Given the description of an element on the screen output the (x, y) to click on. 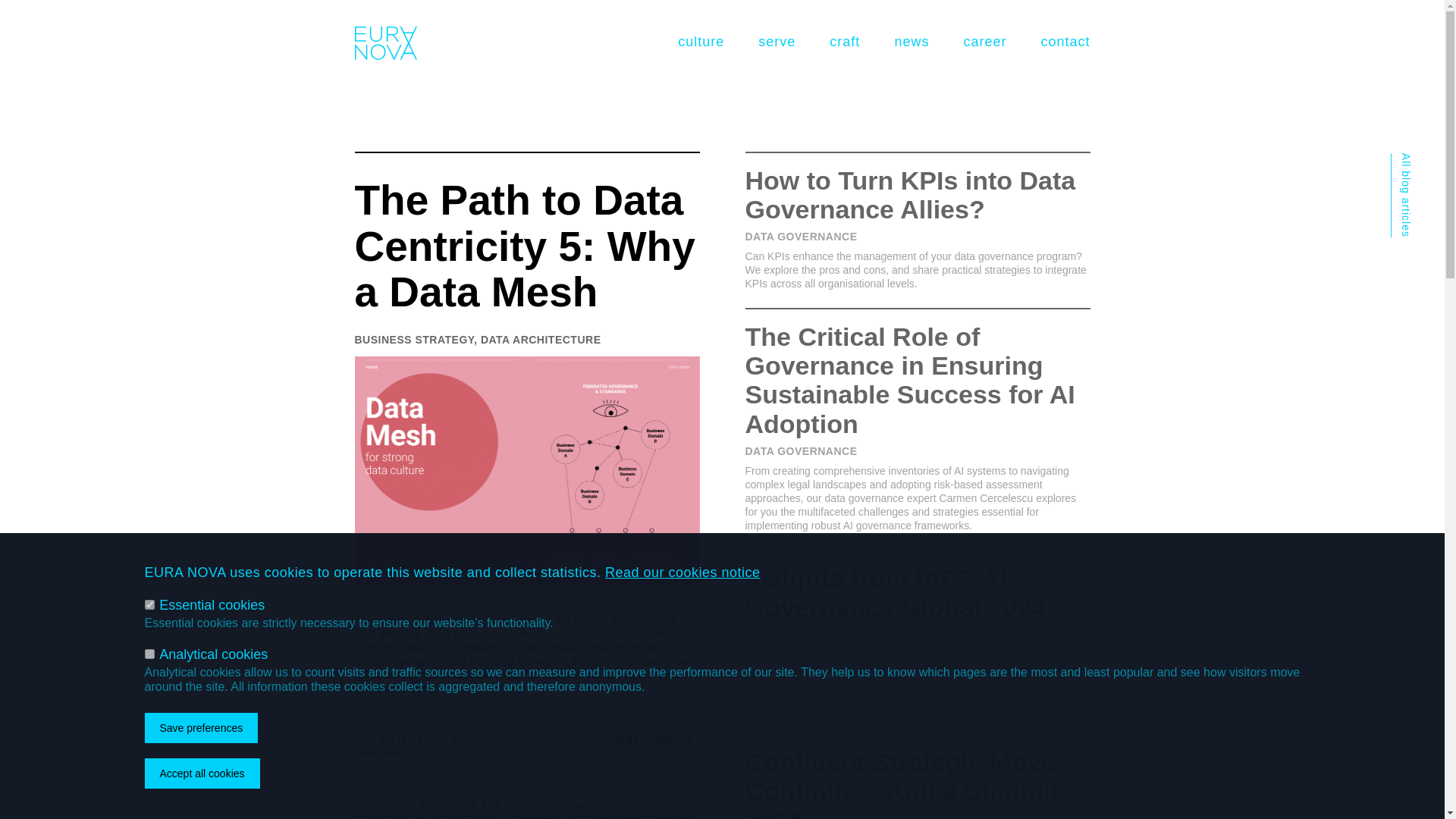
Save preferences (200, 727)
Withdraw consent (274, 773)
craft (844, 41)
news (910, 41)
Read our cookies notice (682, 572)
career (984, 41)
contact (1065, 41)
